Given the description of an element on the screen output the (x, y) to click on. 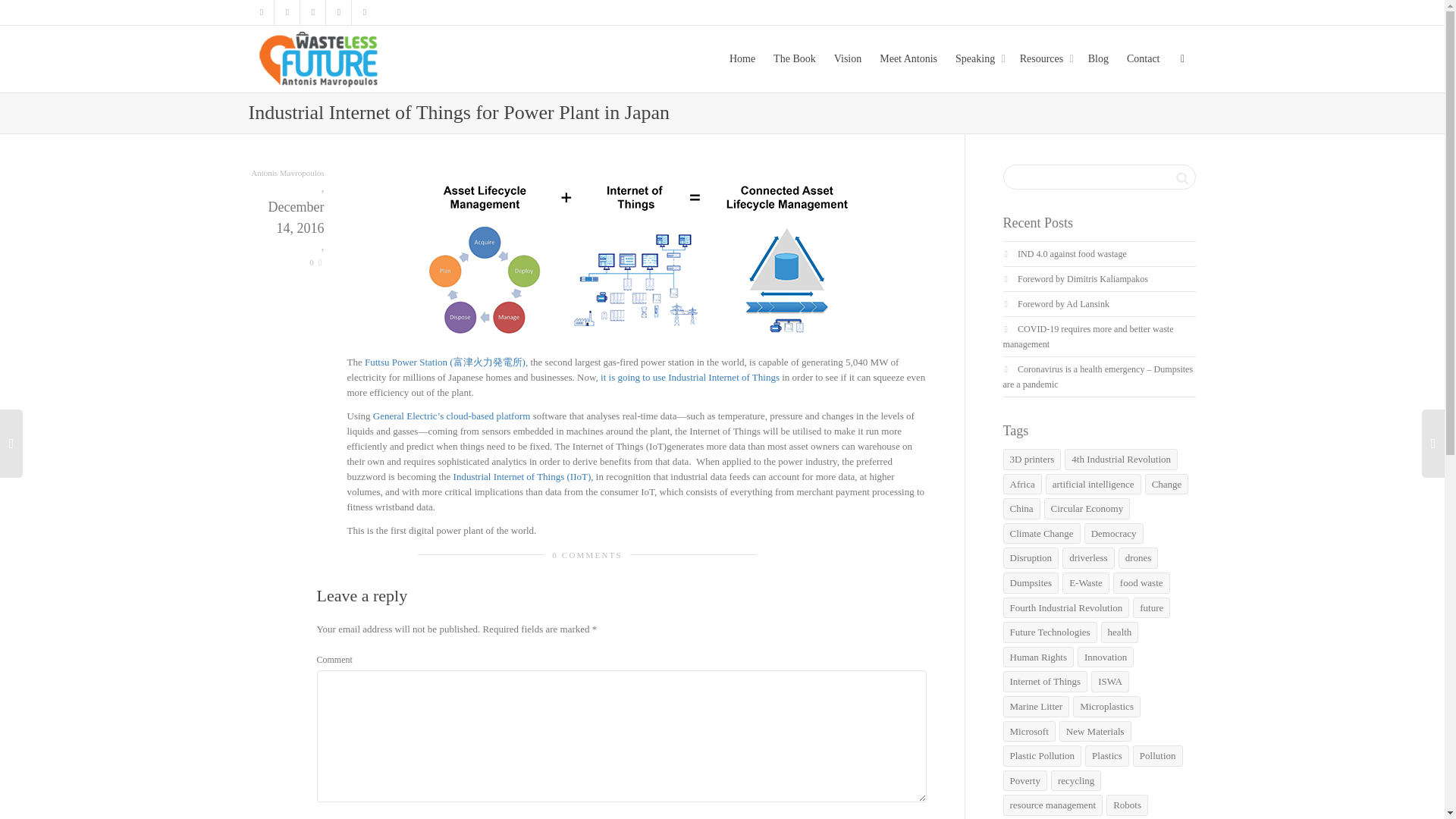
Foreword by Ad Lansink (1063, 303)
Foreword by Dimitris Kaliampakos (1082, 278)
December 14, 2016 (286, 229)
Wasteless Future (320, 58)
Search (1181, 177)
0 (315, 261)
IND 4.0 against food wastage (1071, 253)
Antonis Mavropoulos (286, 172)
it is going to use Industrial Internet of Things (688, 377)
Search (1181, 177)
